Given the description of an element on the screen output the (x, y) to click on. 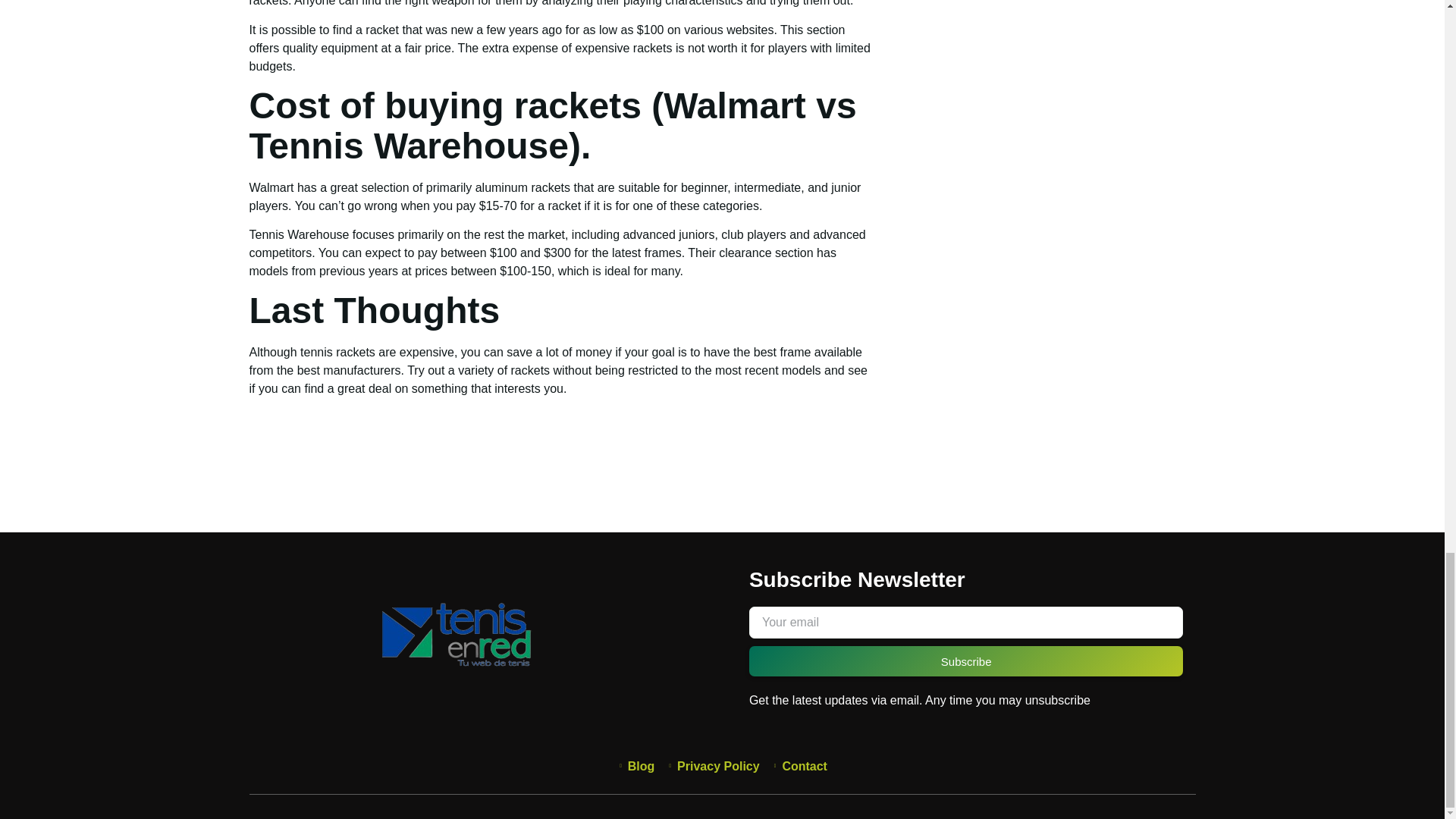
tennis rackets (337, 351)
Blog (635, 766)
Privacy Policy (712, 766)
Contact (799, 766)
Subscribe (966, 661)
